Given the description of an element on the screen output the (x, y) to click on. 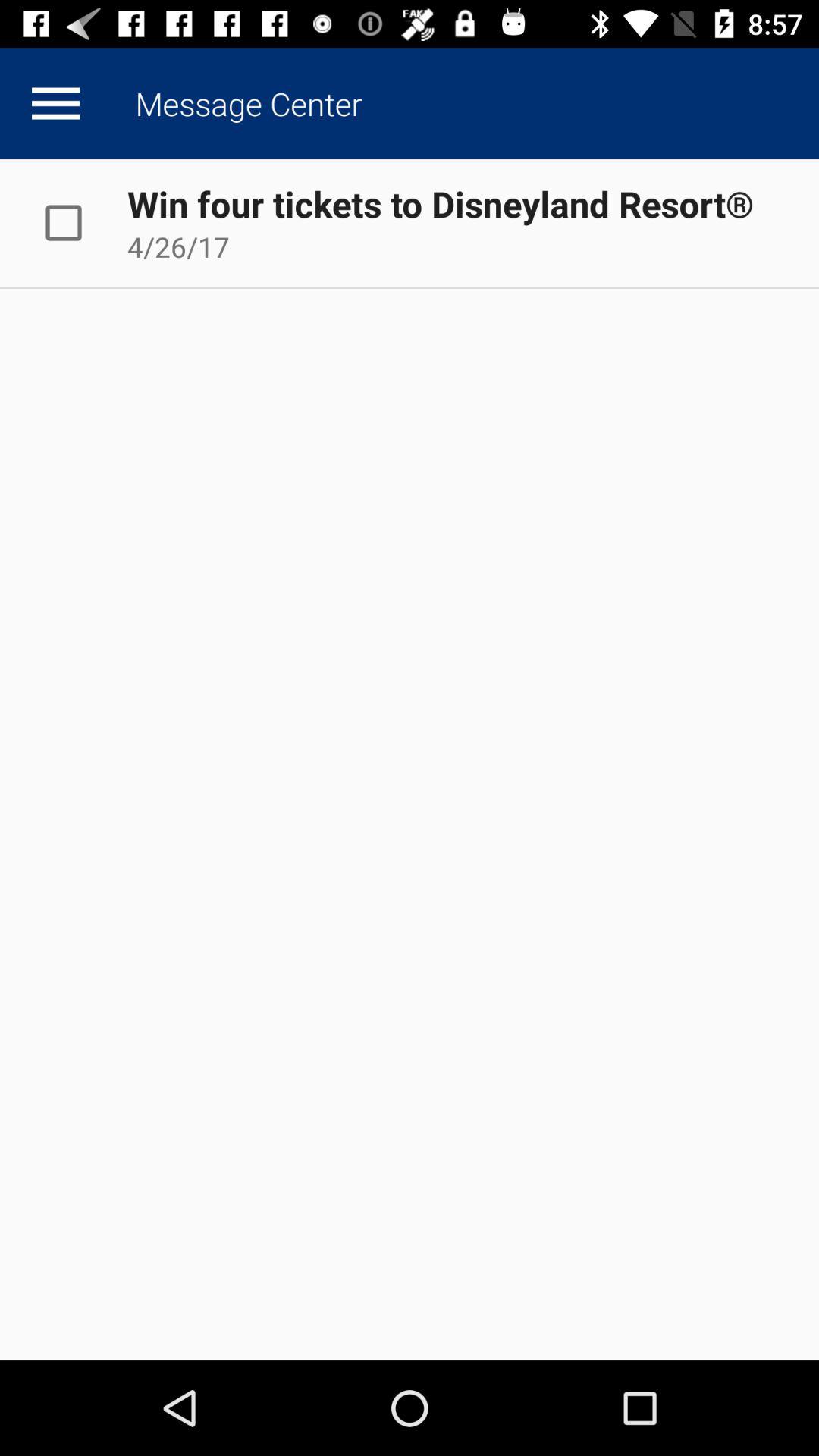
turn off item below message center icon (440, 203)
